Given the description of an element on the screen output the (x, y) to click on. 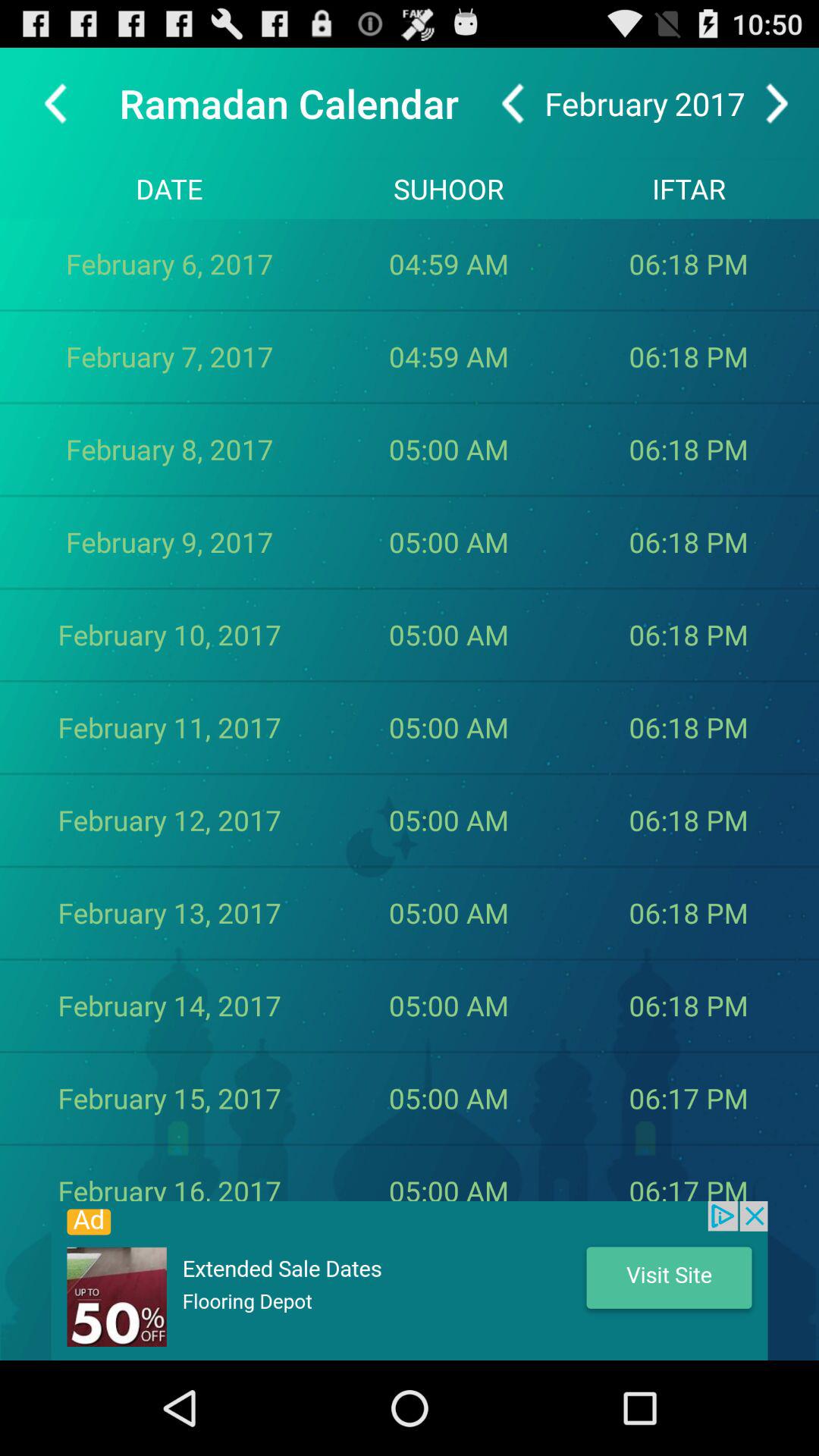
this app is specially dedicated to muslim brothers and sisters (409, 1280)
